Given the description of an element on the screen output the (x, y) to click on. 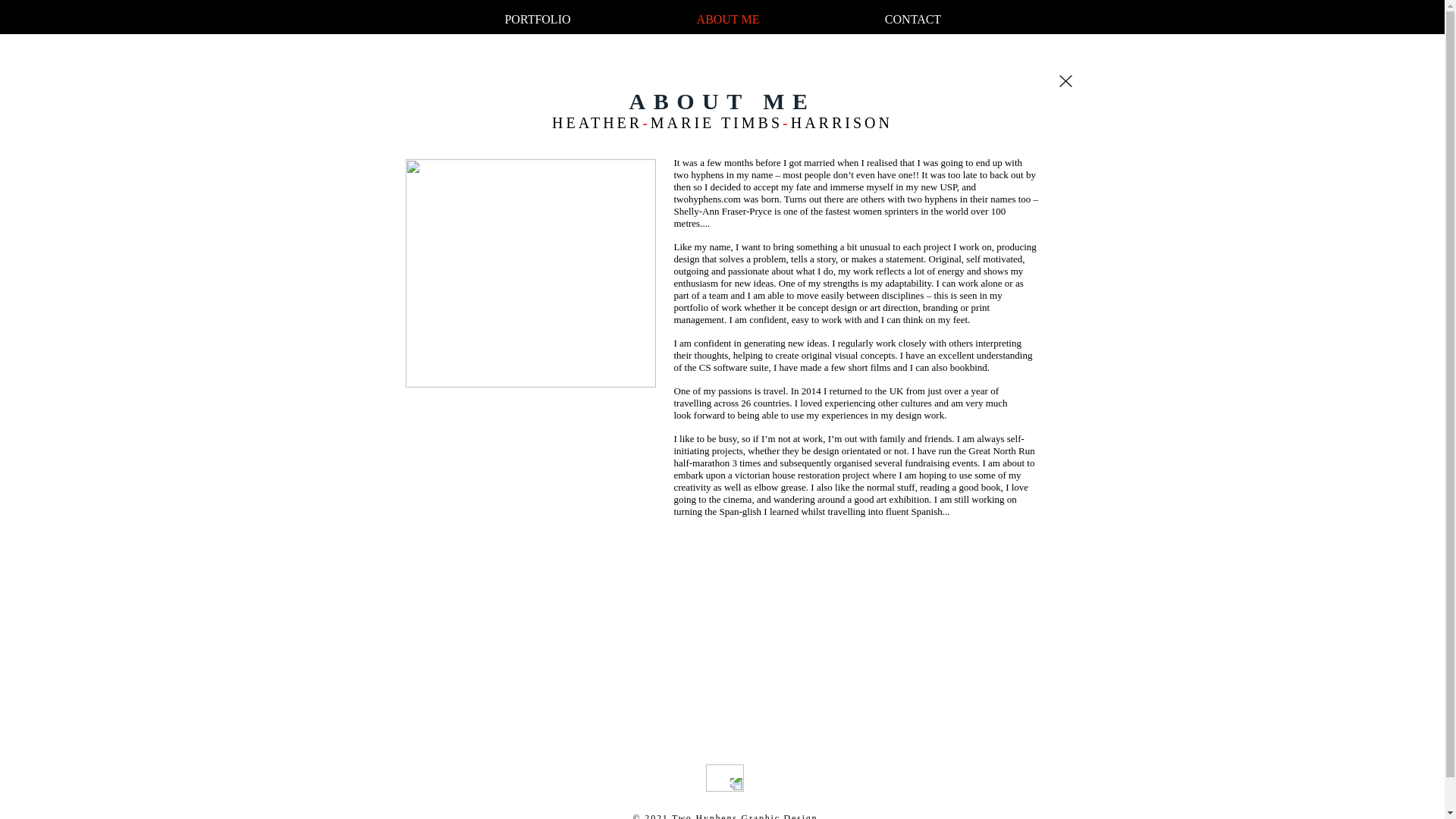
CONTACT (912, 17)
ABOUT ME (727, 17)
PORTFOLIO (537, 17)
